Given the description of an element on the screen output the (x, y) to click on. 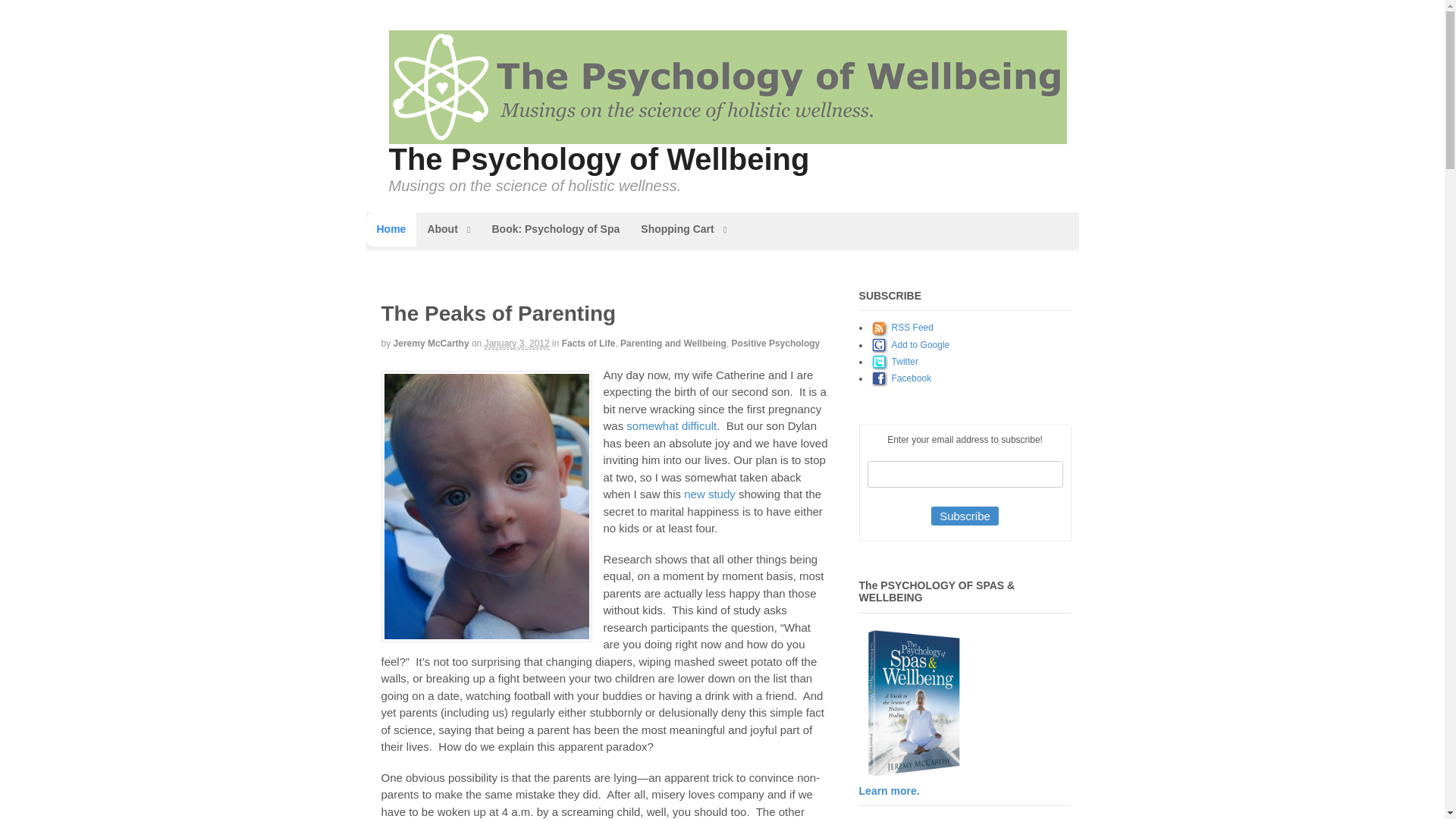
Book: Psychology of Spa (555, 229)
View all items in Positive Psychology (776, 343)
About (448, 229)
Positive Psychology (776, 343)
Parenting and Wellbeing (673, 343)
The Psychology of Wellbeing (598, 159)
Facts of Life (588, 343)
Shopping Cart (683, 229)
Subscribe (964, 515)
View all items in Parenting and Wellbeing (673, 343)
new study (709, 493)
Jeremy McCarthy (430, 343)
Posts by Jeremy McCarthy (430, 343)
somewhat difficult (671, 425)
Home (390, 229)
